Given the description of an element on the screen output the (x, y) to click on. 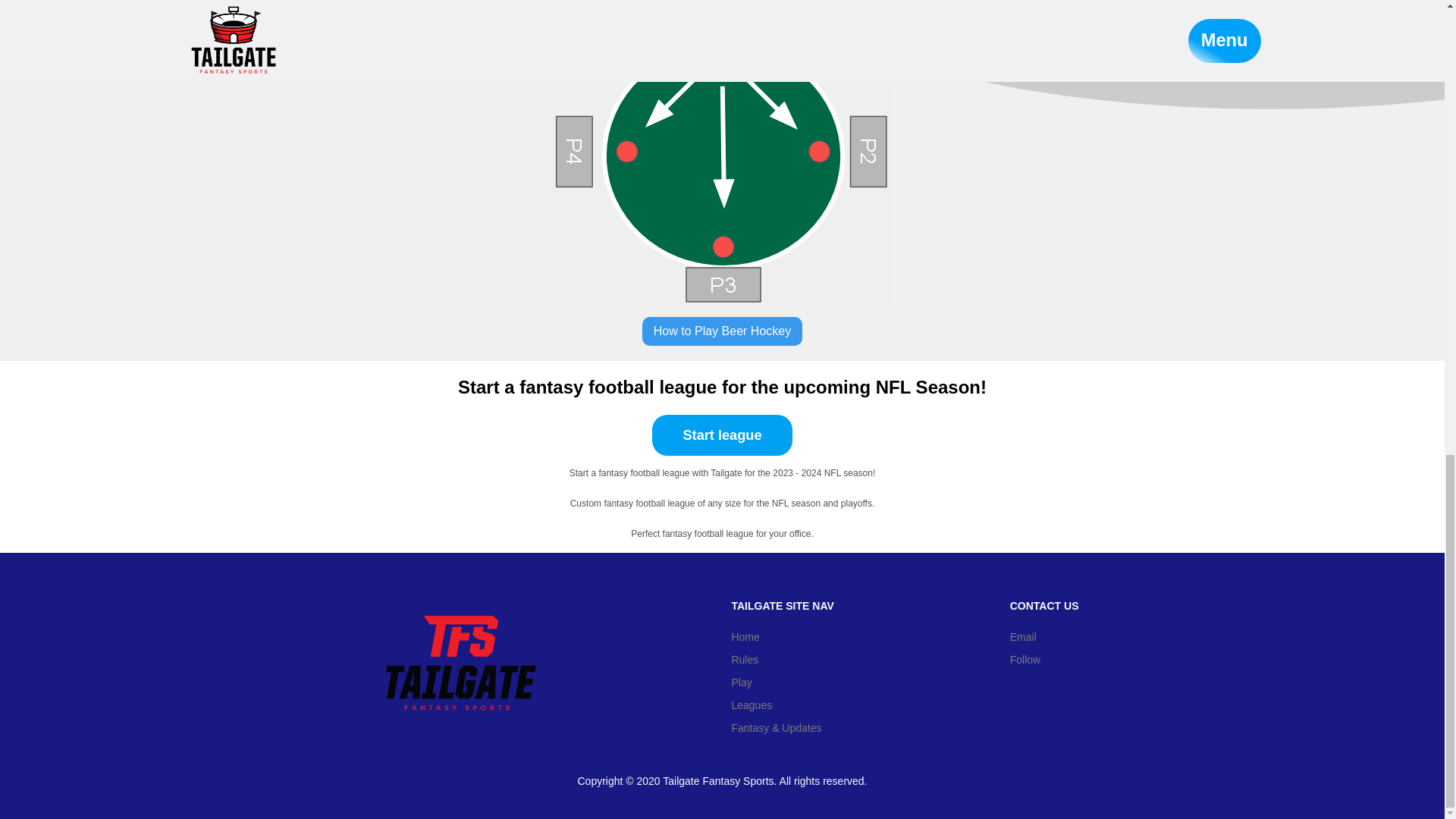
Home (781, 636)
How to Play Beer Hockey (722, 330)
Rules (781, 659)
Start league (721, 435)
Email (1044, 636)
Play (781, 682)
Leagues (781, 704)
Follow (1044, 659)
